Given the description of an element on the screen output the (x, y) to click on. 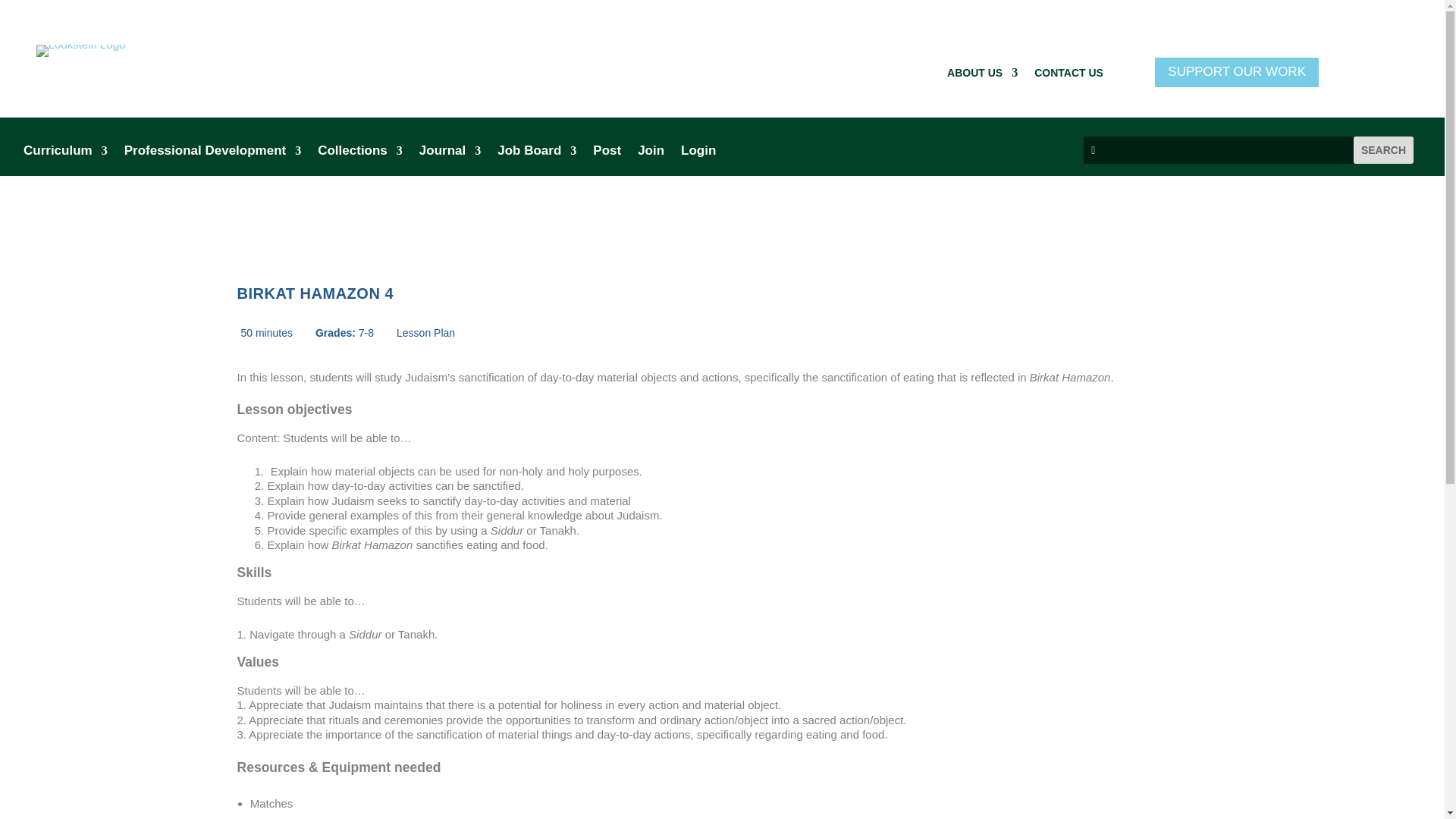
Curriculum (65, 153)
SUPPORT OUR WORK (1236, 72)
Search (1383, 149)
Professional Development (212, 153)
ABOUT US (982, 75)
Collections (360, 153)
Search (1383, 149)
CONTACT US (1068, 75)
